Given the description of an element on the screen output the (x, y) to click on. 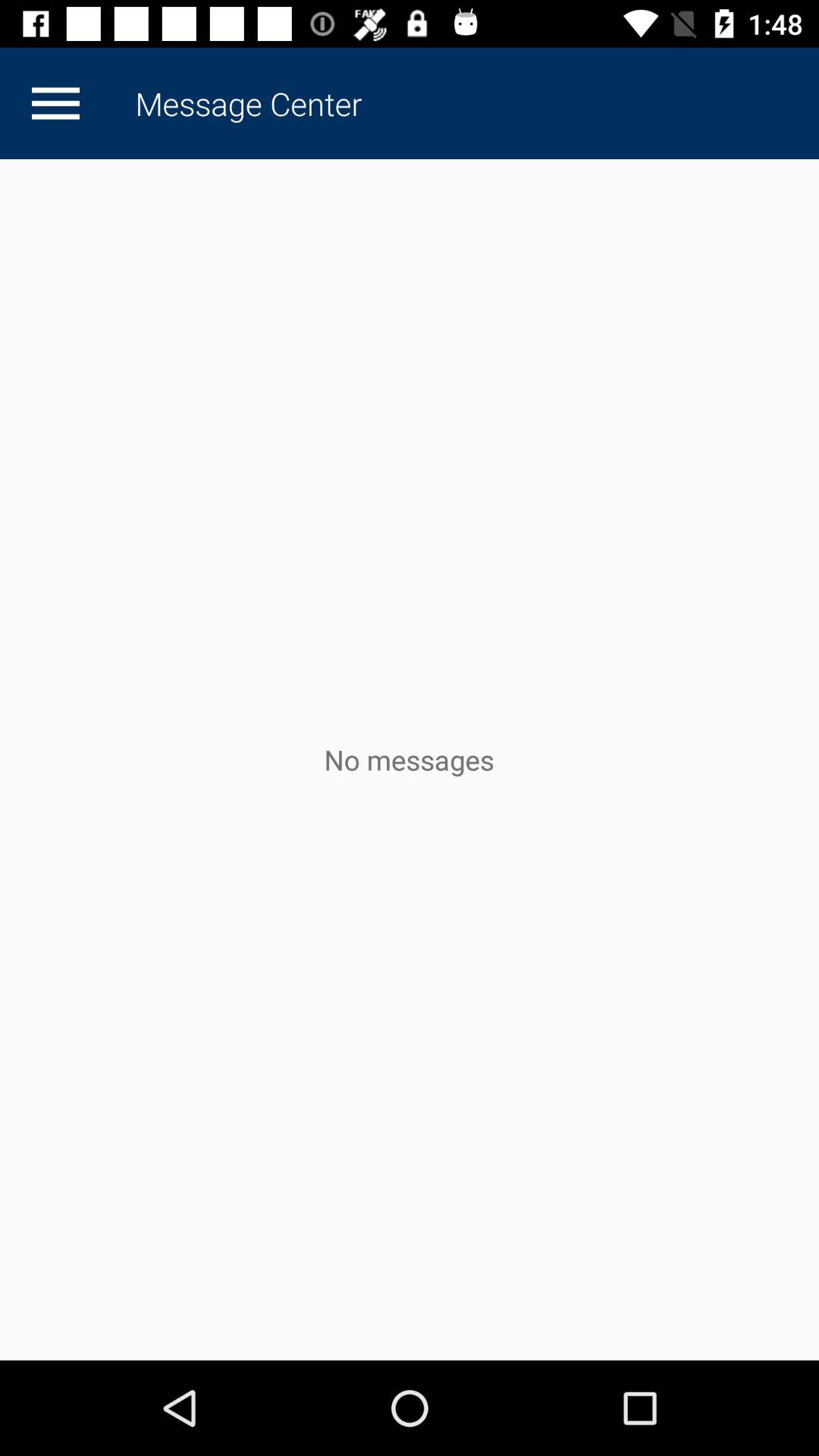
click the icon to the left of the message center item (55, 103)
